Given the description of an element on the screen output the (x, y) to click on. 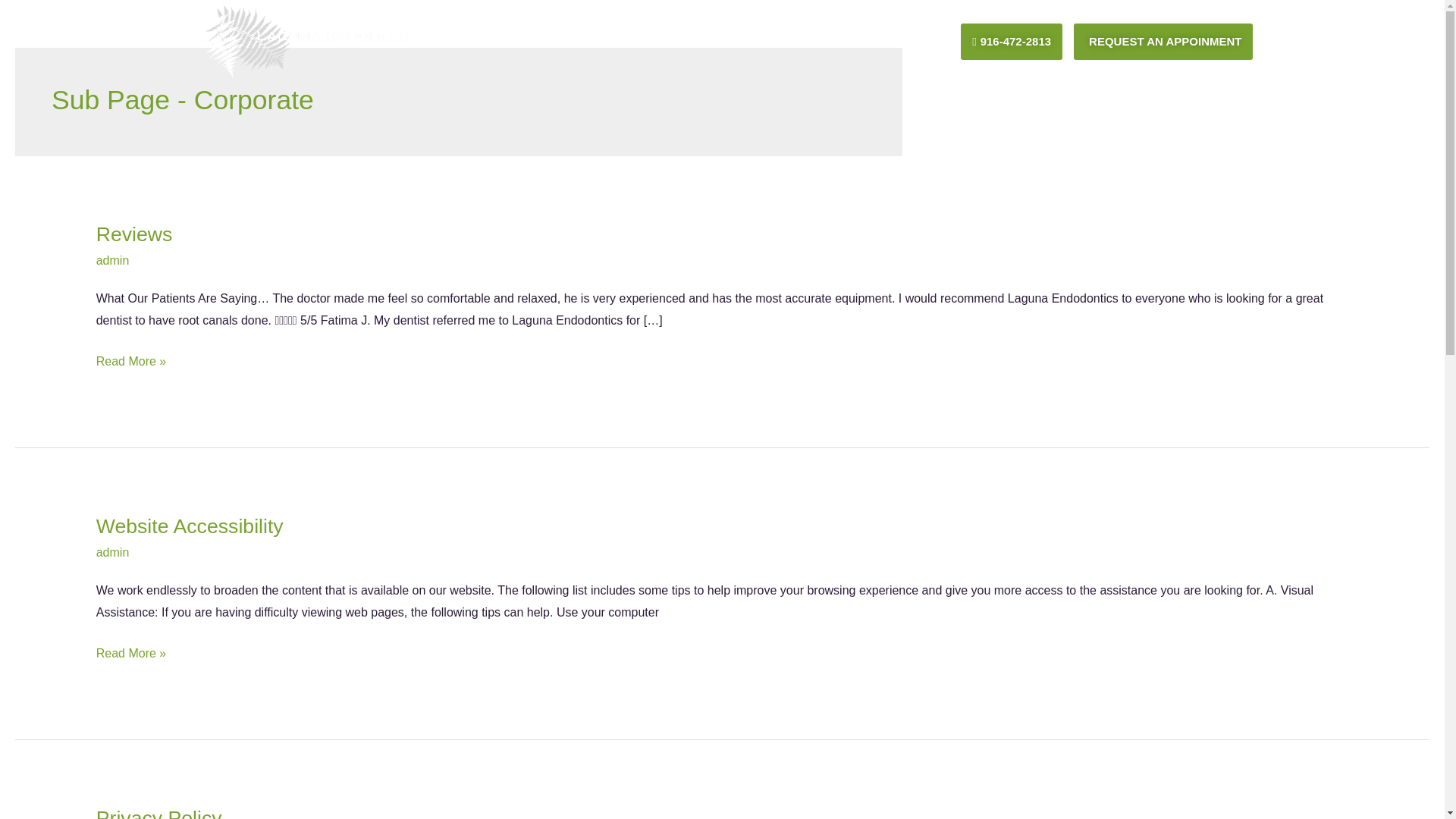
CONTACT (910, 41)
SERVICES (765, 41)
ABOUT US (531, 41)
View all posts by admin (112, 552)
REQUEST AN APPOINMENT (1163, 41)
View all posts by admin (112, 259)
PATIENT RESOURCES (649, 41)
916-472-2813 (1011, 41)
REVIEWS (842, 41)
